Given the description of an element on the screen output the (x, y) to click on. 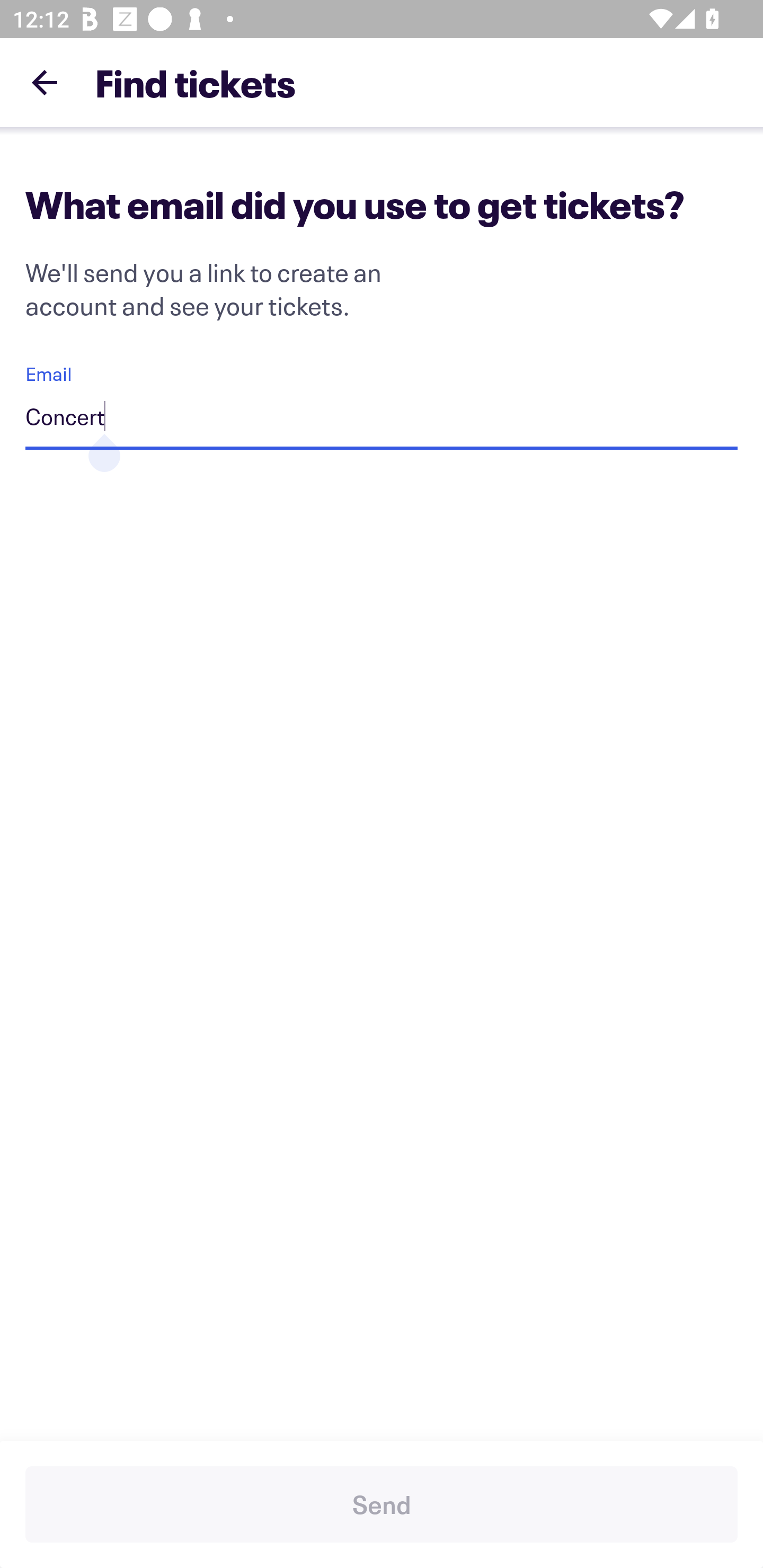
Navigate up (44, 82)
Concert (381, 419)
Send (381, 1504)
